Given the description of an element on the screen output the (x, y) to click on. 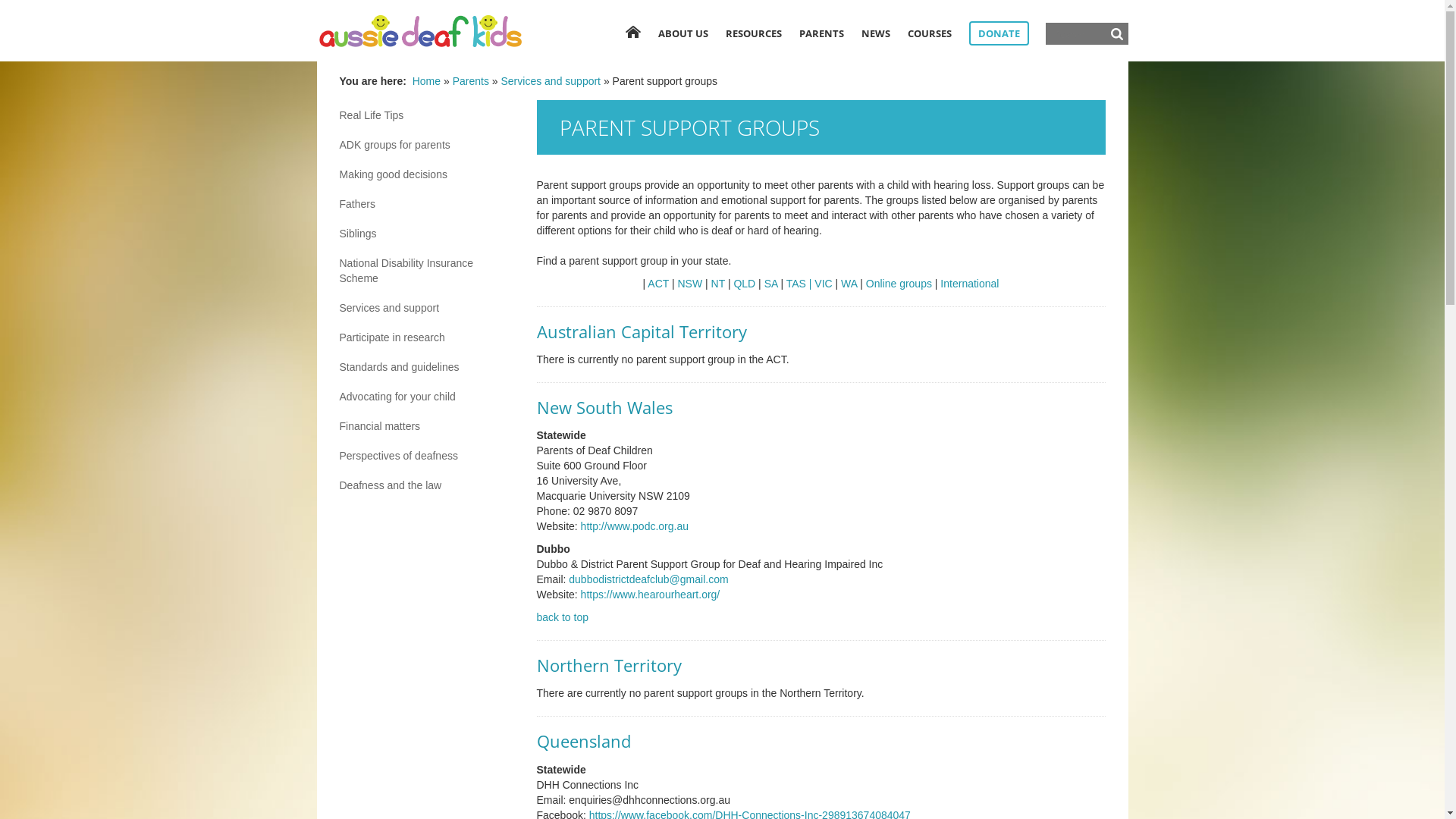
NT Element type: text (717, 283)
Siblings Element type: text (426, 233)
NSW Element type: text (689, 283)
WA Element type: text (848, 283)
Services and support Element type: text (426, 307)
ADK groups for parents Element type: text (426, 144)
Services and support Element type: text (550, 81)
Perspectives of deafness Element type: text (426, 455)
Advocating for your child Element type: text (426, 396)
VIC Element type: text (822, 283)
Parents Element type: text (470, 81)
Fathers Element type: text (426, 203)
Deafness and the law Element type: text (426, 485)
 https://www.hearourheart.org/ Element type: text (648, 594)
ABOUT US Element type: text (683, 33)
RESOURCES Element type: text (752, 33)
NEWS Element type: text (875, 33)
International Element type: text (967, 283)
National Disability Insurance Scheme Element type: text (426, 270)
http://www.podc.org.au Element type: text (634, 526)
ACT Element type: text (657, 283)
back to top Element type: text (562, 617)
Standards and guidelines Element type: text (426, 366)
Making good decisions Element type: text (426, 174)
PARENTS Element type: text (821, 33)
COURSES Element type: text (928, 33)
TAS | Element type: text (799, 283)
Financial matters Element type: text (426, 426)
Participate in research Element type: text (426, 337)
QLD Element type: text (744, 283)
DONATE Element type: text (999, 33)
Home Element type: text (426, 81)
Real Life Tips Element type: text (426, 115)
dubbodistrictdeafclub@gmail.com Element type: text (648, 579)
Online groups Element type: text (898, 283)
SA Element type: text (771, 283)
HOME Element type: text (632, 31)
